Given the description of an element on the screen output the (x, y) to click on. 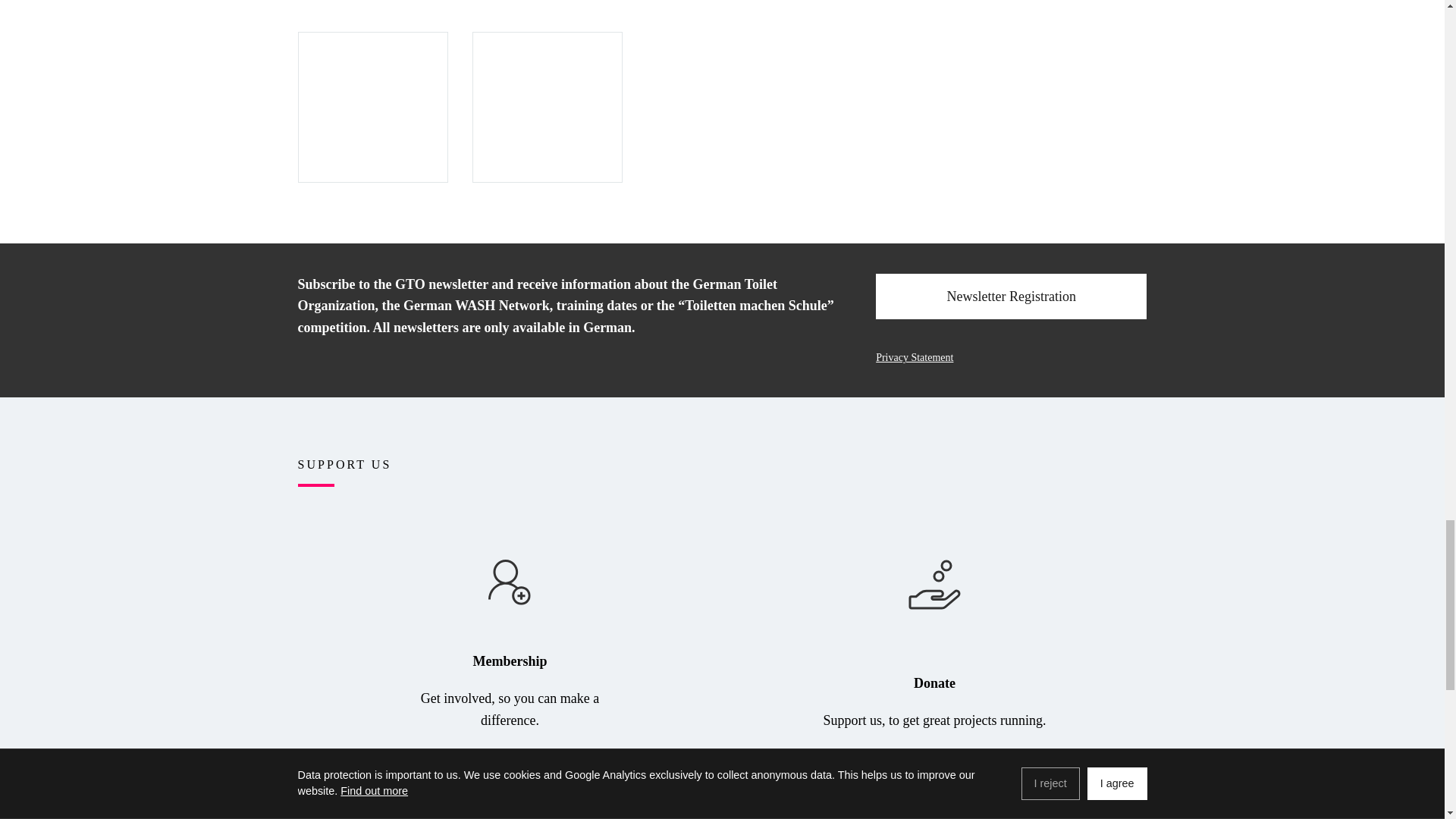
Privacy Statement (1011, 357)
Join GTO (509, 804)
Newsletter Registration (1011, 296)
Support us (933, 804)
